Given the description of an element on the screen output the (x, y) to click on. 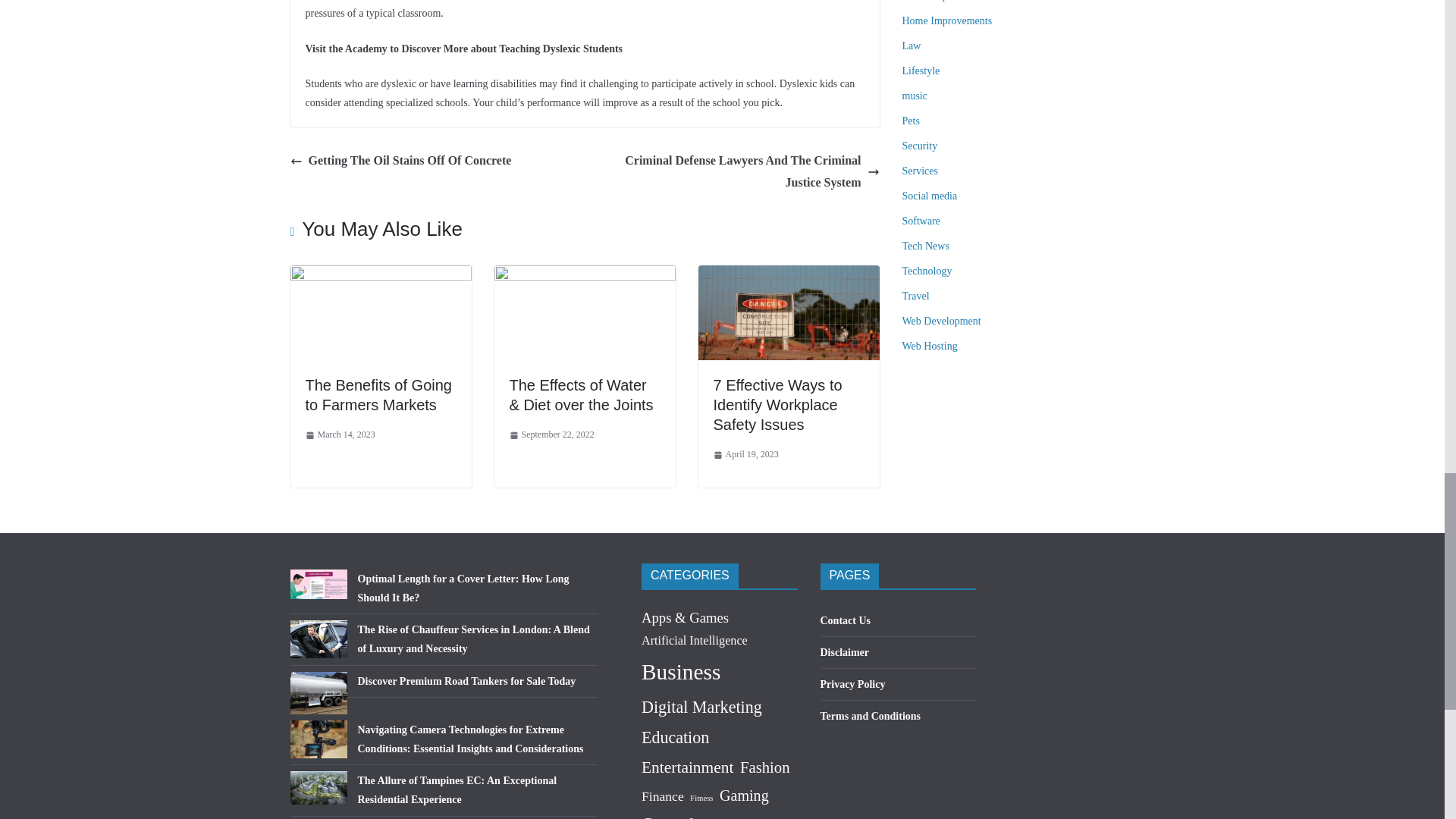
Criminal Defense Lawyers And The Criminal Justice System (735, 171)
The Benefits of Going to Farmers Markets (377, 394)
8:40 PM (339, 434)
5:18 PM (551, 434)
The Benefits of Going to Farmers Markets (377, 394)
Getting The Oil Stains Off Of Concrete (400, 160)
March 14, 2023 (339, 434)
7 Effective Ways to Identify Workplace Safety Issues (788, 275)
The Benefits of Going to Farmers Markets (379, 275)
